Given the description of an element on the screen output the (x, y) to click on. 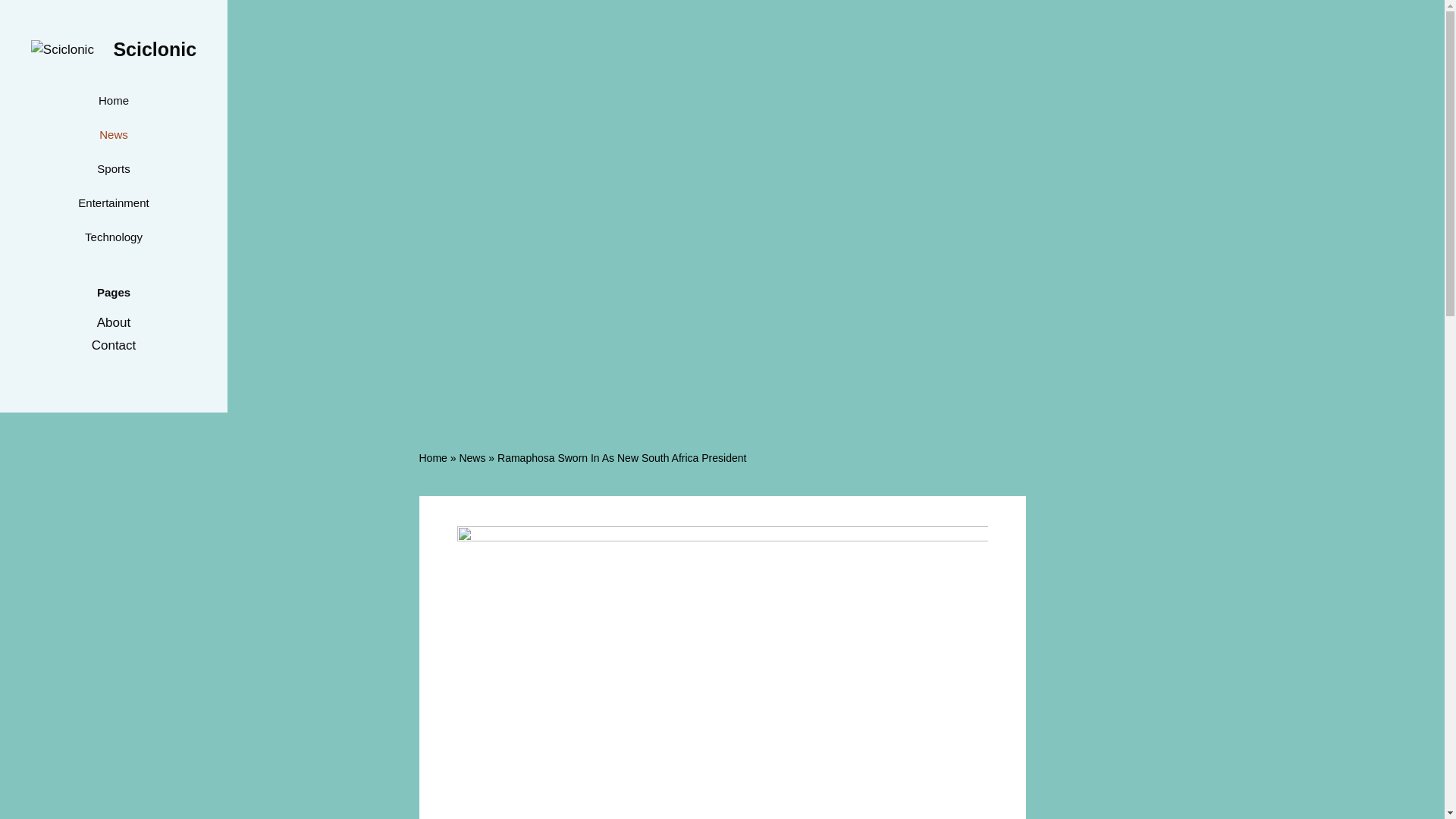
Sports (112, 168)
News (471, 458)
Technology (112, 236)
Contact (113, 345)
Home (432, 458)
About (114, 322)
Sciclonic (154, 48)
Entertainment (112, 202)
Home (112, 100)
News (112, 134)
